Given the description of an element on the screen output the (x, y) to click on. 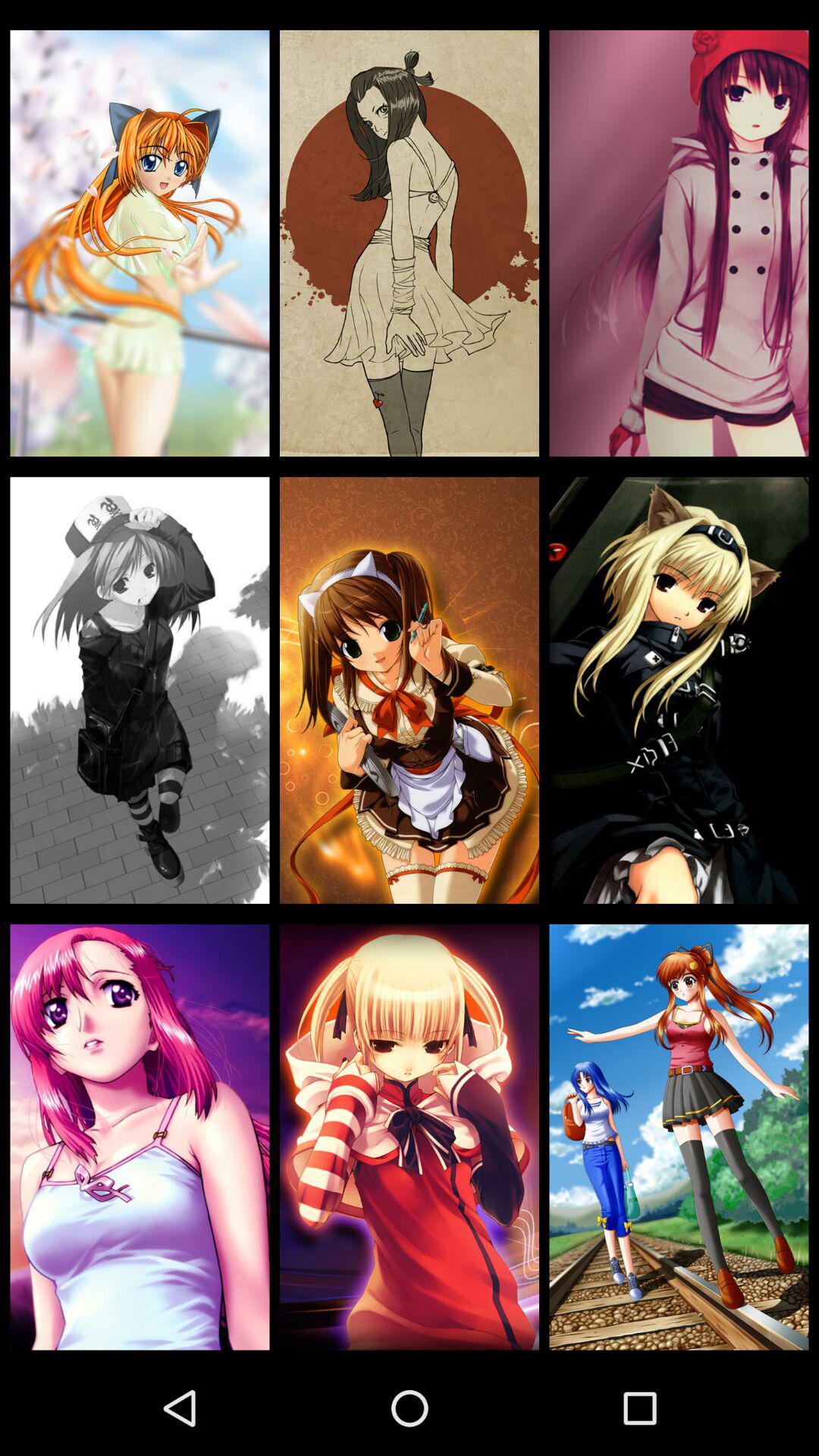
go to first image (139, 243)
